Given the description of an element on the screen output the (x, y) to click on. 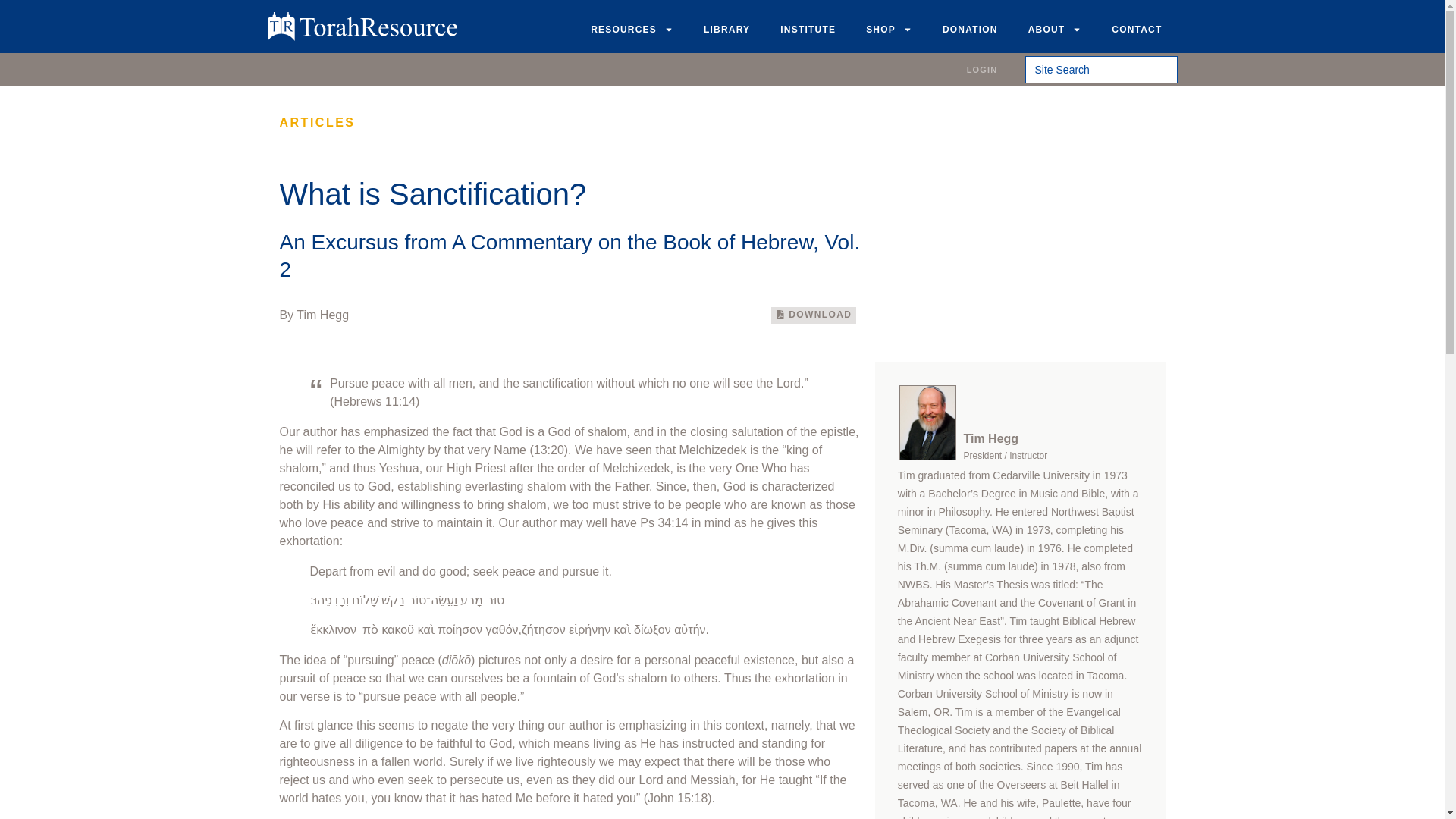
ABOUT (1055, 29)
RESOURCES (631, 29)
DONATION (970, 29)
LIBRARY (726, 29)
SHOP (888, 29)
INSTITUTE (807, 29)
